Given the description of an element on the screen output the (x, y) to click on. 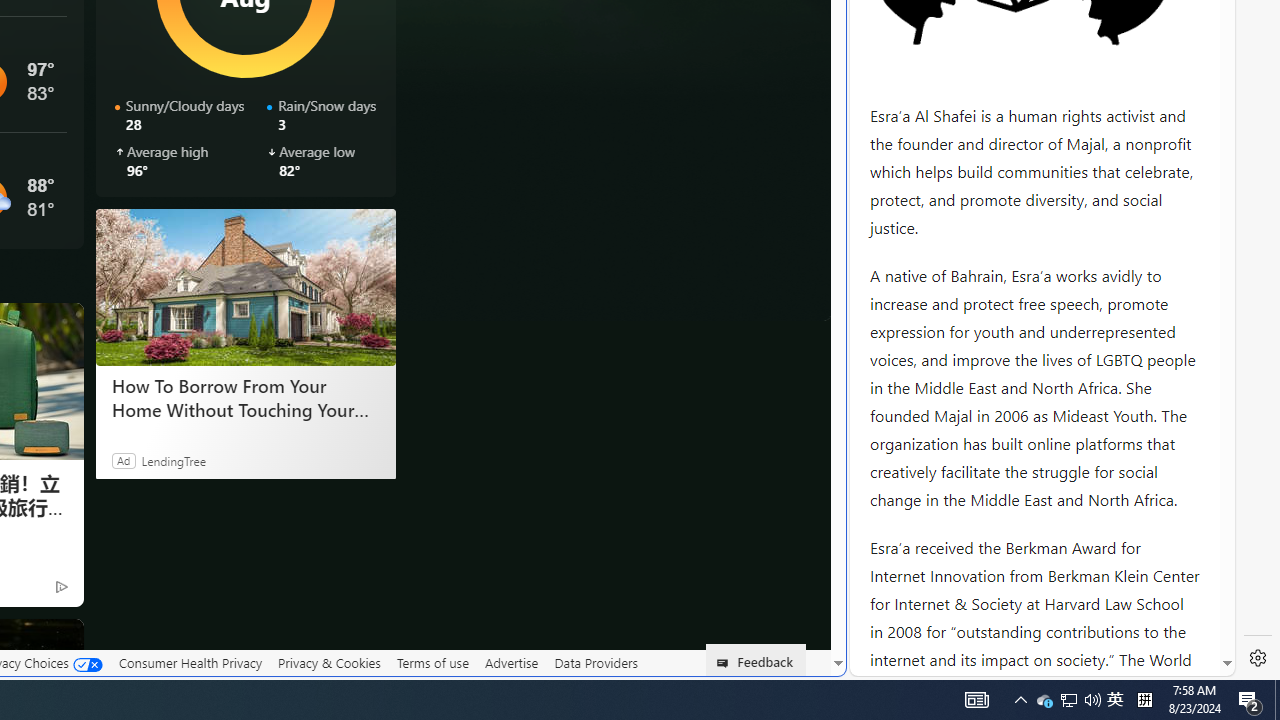
MSN (687, 223)
Global web icon (888, 663)
